Given the description of an element on the screen output the (x, y) to click on. 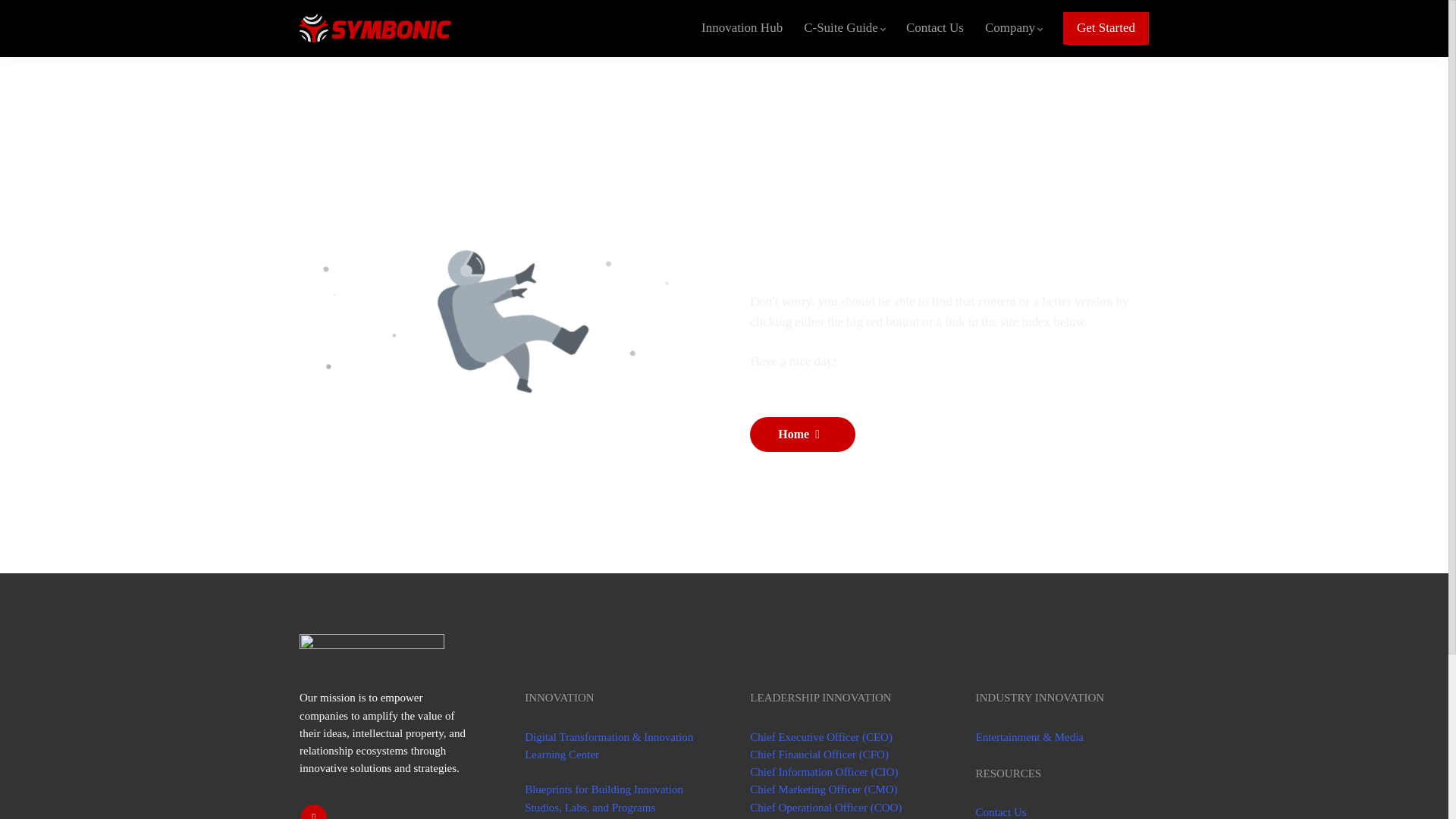
Home (802, 434)
Contact Us (934, 27)
Innovation Hub (742, 27)
Company (1013, 27)
Get Started (1105, 28)
